Given the description of an element on the screen output the (x, y) to click on. 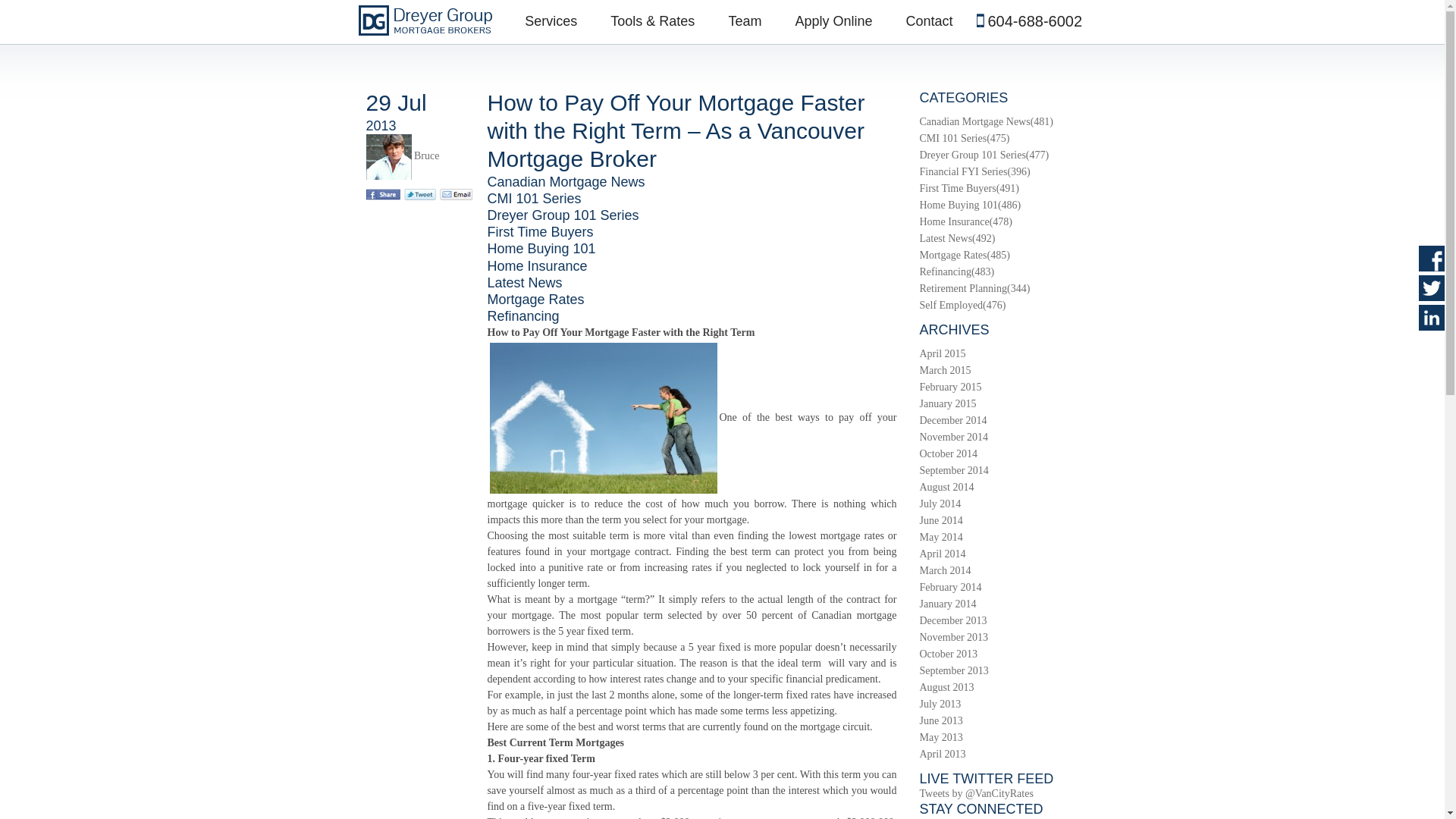
Latest News (524, 282)
First Time Buyers (956, 188)
Services (551, 21)
Home Buying 101 (957, 205)
Apply Online (832, 21)
Canadian Mortgage News (565, 181)
Financial FYI Series (962, 171)
Mortgage Rates (534, 299)
Canadian Mortgage News (973, 121)
Contact (928, 21)
Home Buying 101 (540, 248)
Refinancing (944, 271)
Refinancing (522, 315)
First Time Buyers (539, 231)
Dreyer Group 101 Series (562, 215)
